Given the description of an element on the screen output the (x, y) to click on. 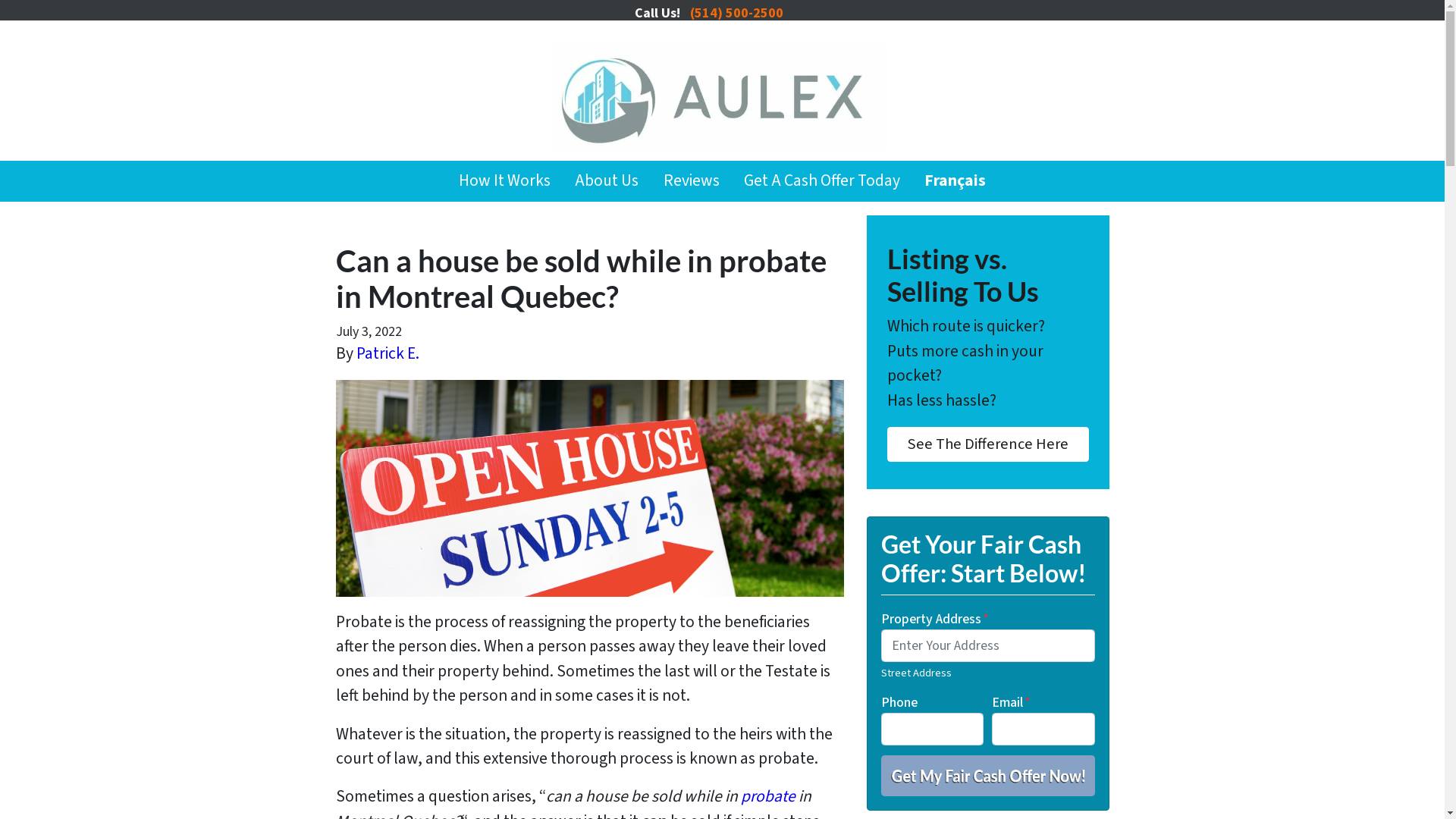
How It Works Element type: text (504, 180)
probate Element type: text (767, 796)
Reviews Element type: text (690, 180)
Patrick E. Element type: text (387, 353)
About Us Element type: text (606, 180)
Get A Cash Offer Today Element type: text (821, 180)
See The Difference Here Element type: text (987, 443)
